Given the description of an element on the screen output the (x, y) to click on. 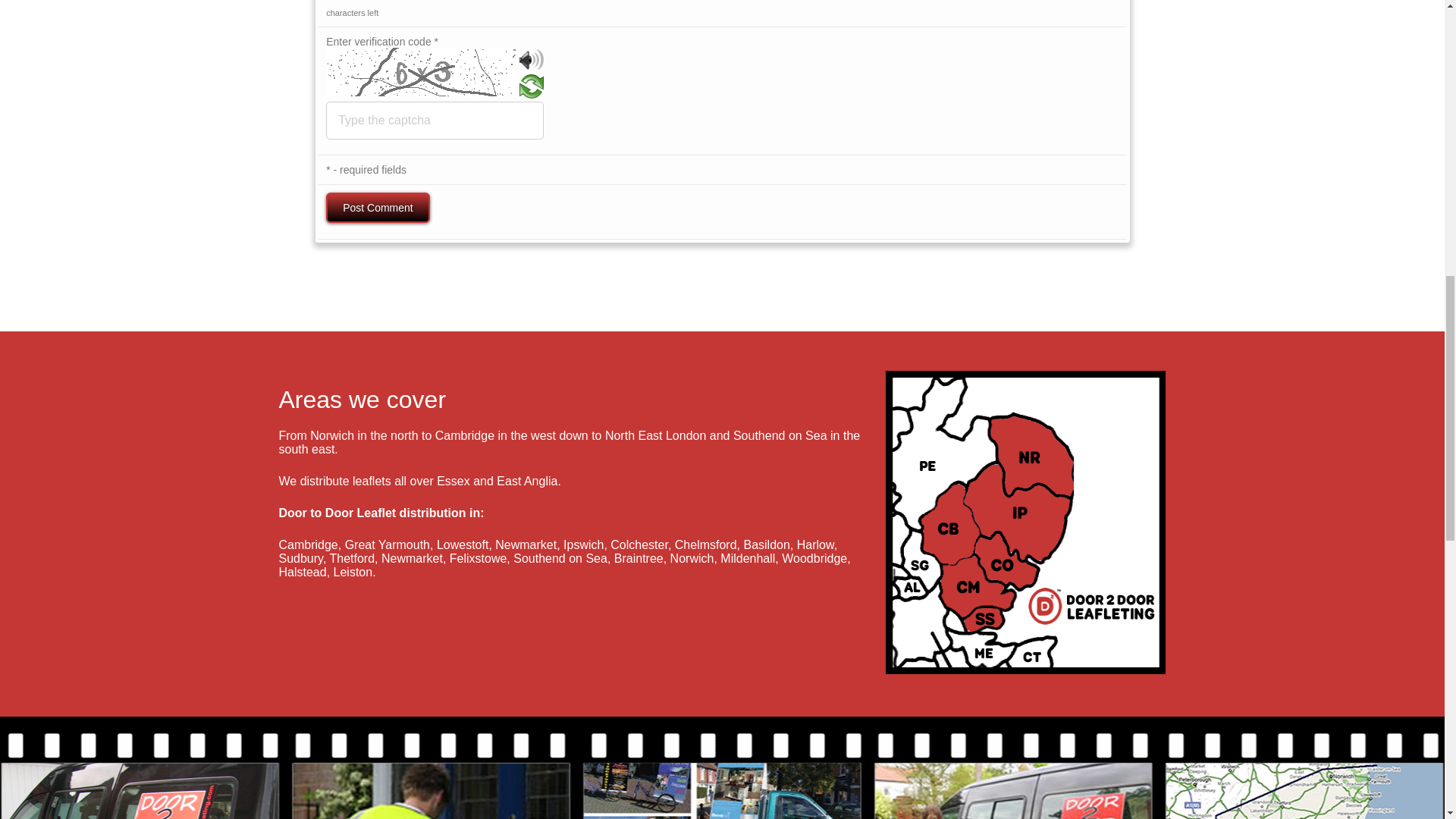
Refresh Image (531, 92)
Post Comment (377, 207)
Post Comment (377, 207)
